Given the description of an element on the screen output the (x, y) to click on. 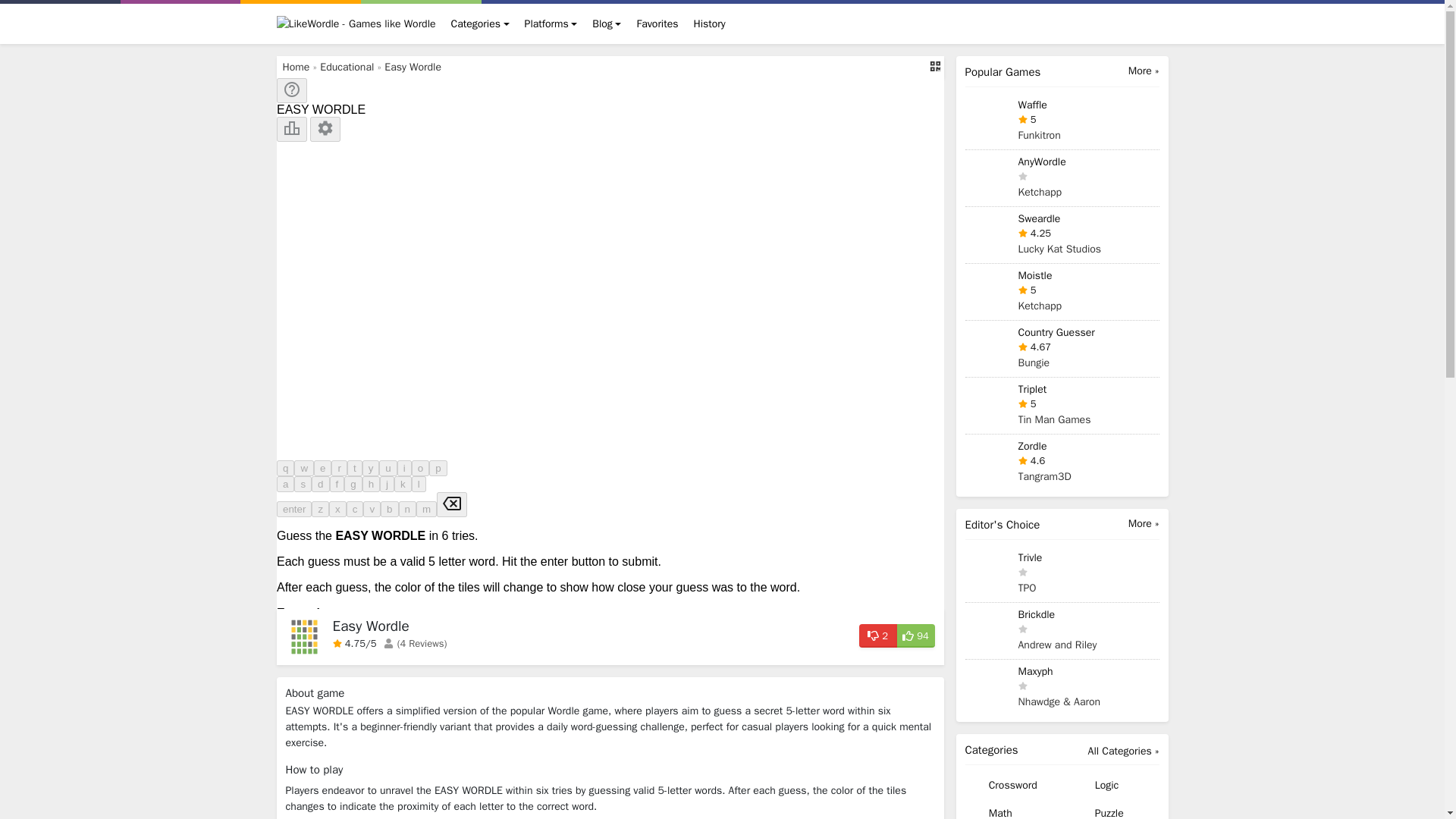
History (708, 23)
Educational (347, 66)
94 (915, 635)
Blog (606, 23)
Favorites (657, 23)
Categories (480, 23)
2 (877, 635)
Easy Wordle (412, 66)
Platforms (550, 23)
Home (295, 66)
